Given the description of an element on the screen output the (x, y) to click on. 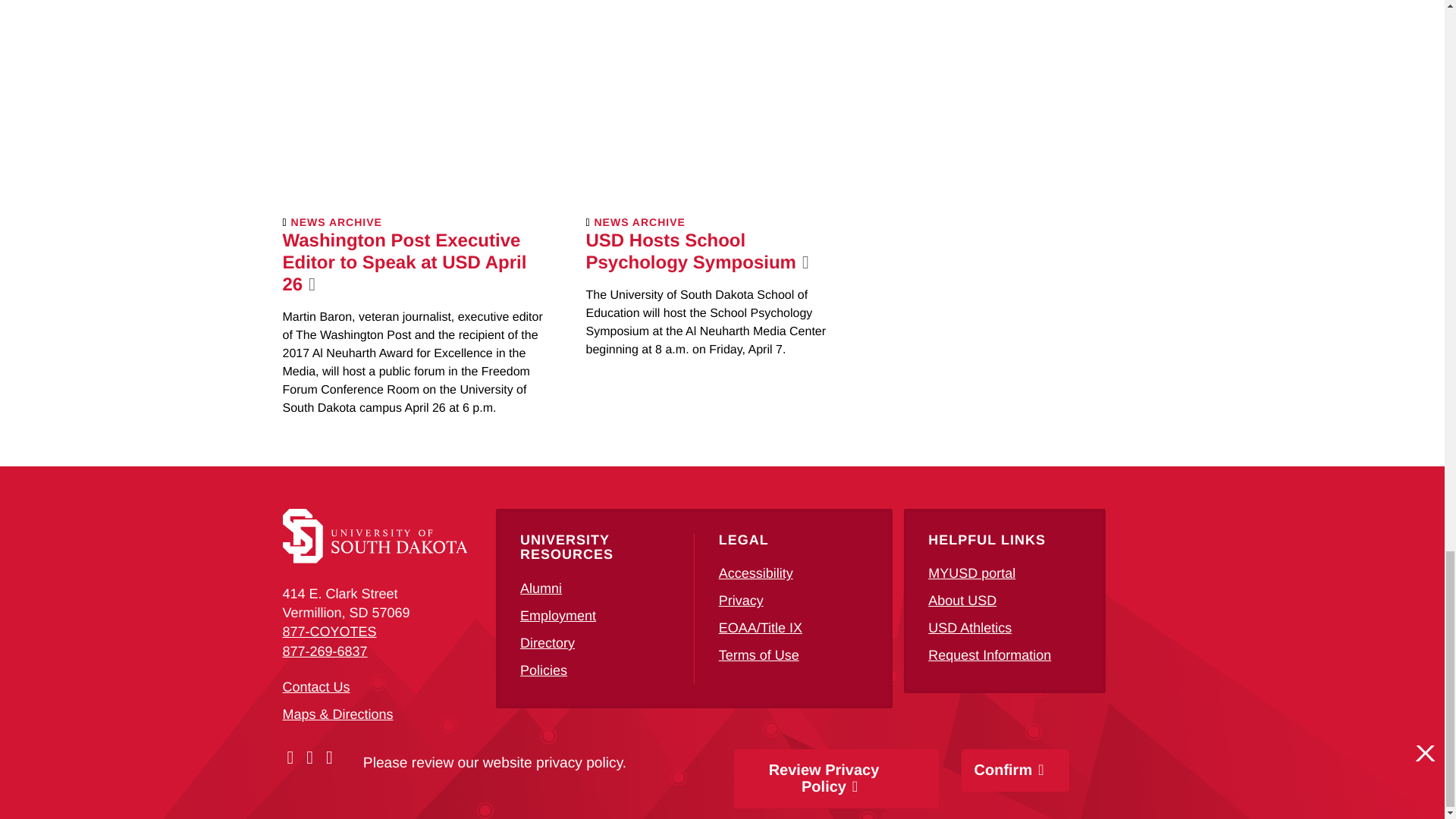
About USD (961, 600)
Accessibility (756, 572)
Employment (557, 615)
USD Policies (543, 670)
USD Terms of Use (759, 654)
USD Alumni (540, 588)
USD Athletics site (969, 627)
Faculty and Staff Directory (547, 642)
Privacy (740, 600)
MYUSD portal (971, 572)
